Given the description of an element on the screen output the (x, y) to click on. 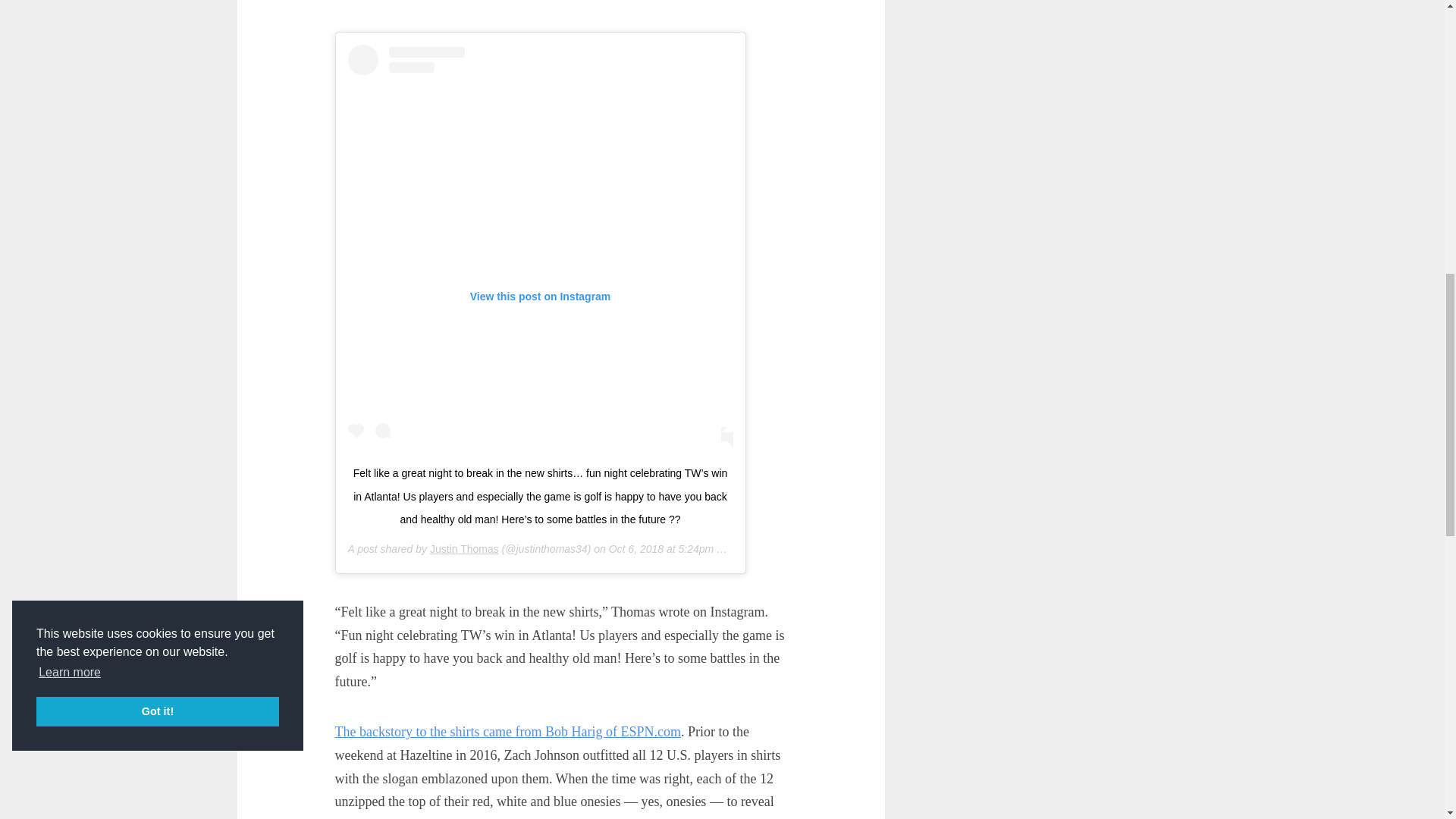
The backstory to the shirts came from Bob Harig of ESPN.com (507, 731)
Justin Thomas (464, 548)
